Given the description of an element on the screen output the (x, y) to click on. 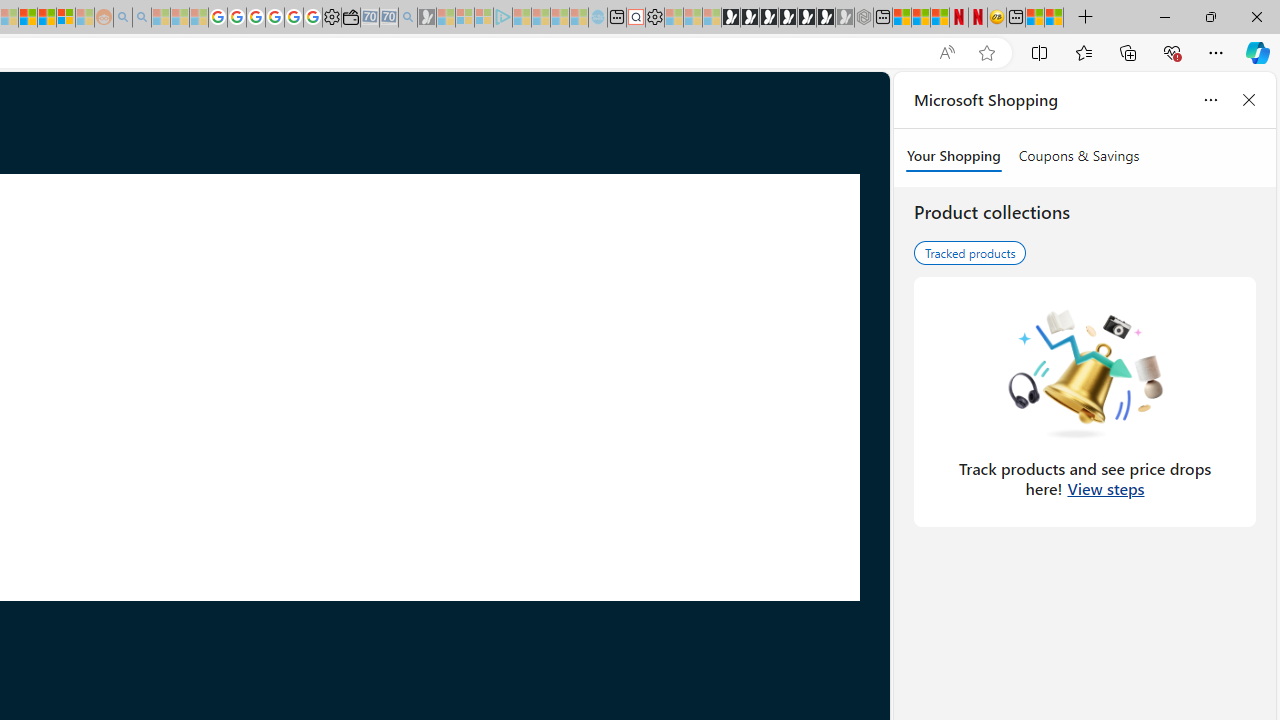
Wallet (350, 17)
Utah sues federal government - Search - Sleeping (142, 17)
Play Cave FRVR in your browser | Games from Microsoft Start (769, 17)
Cheap Car Rentals - Save70.com - Sleeping (389, 17)
Microsoft Start Gaming - Sleeping (427, 17)
